Given the description of an element on the screen output the (x, y) to click on. 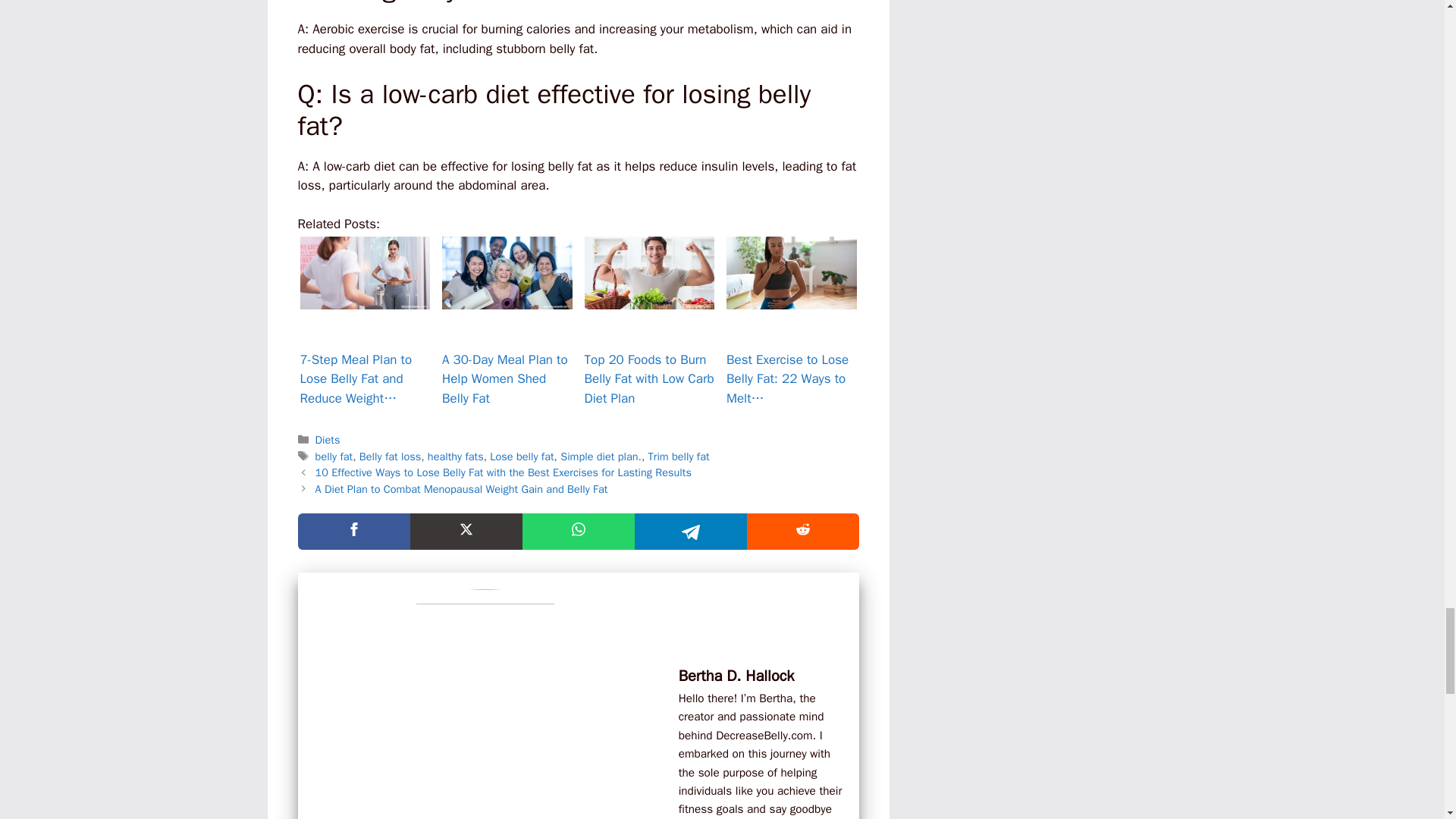
A 30-Day Meal Plan to Help Women Shed Belly Fat (507, 273)
Top 20 Foods to Burn Belly Fat with Low Carb Diet Plan (648, 273)
